Given the description of an element on the screen output the (x, y) to click on. 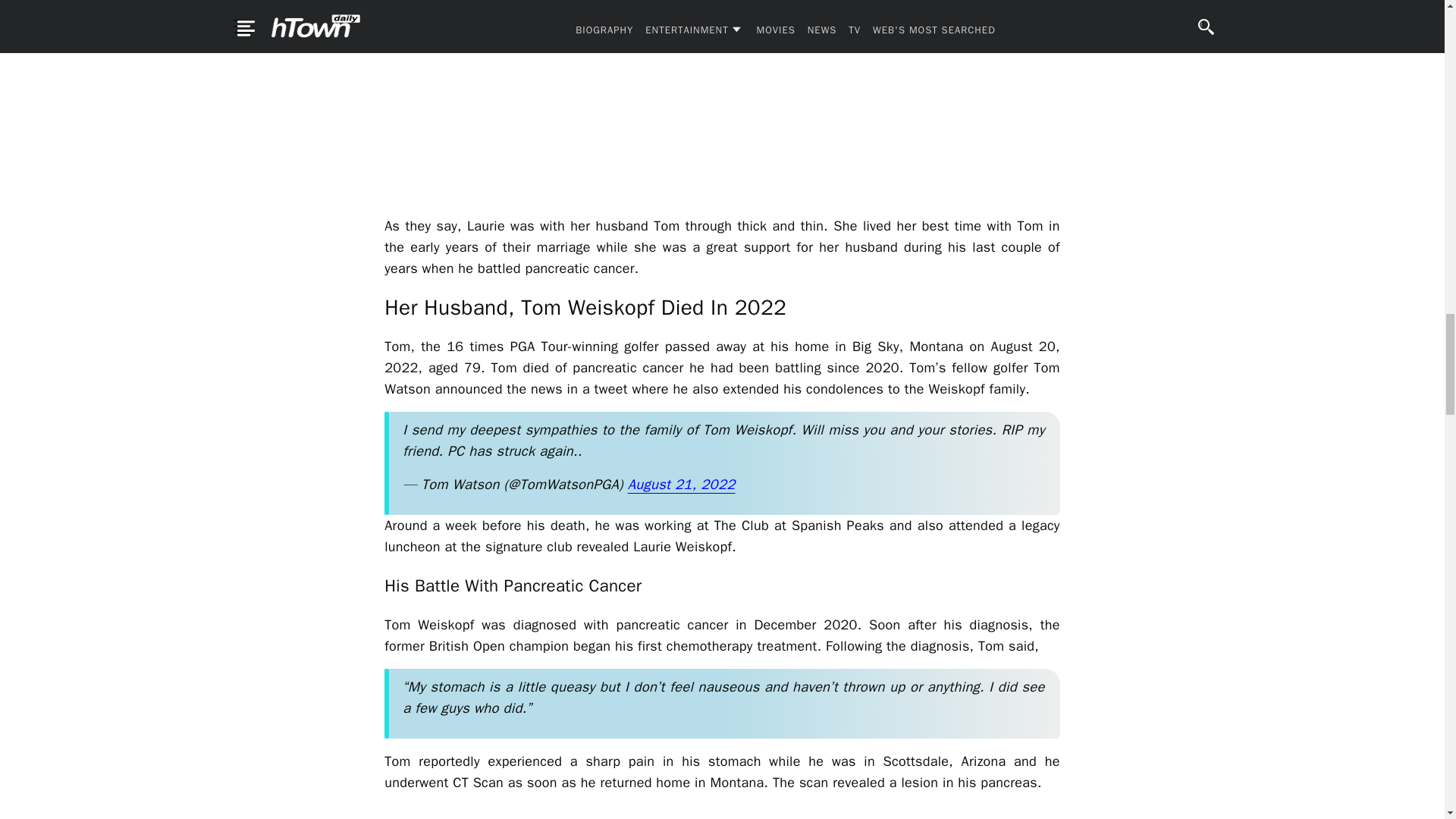
August 21, 2022 (681, 484)
